Given the description of an element on the screen output the (x, y) to click on. 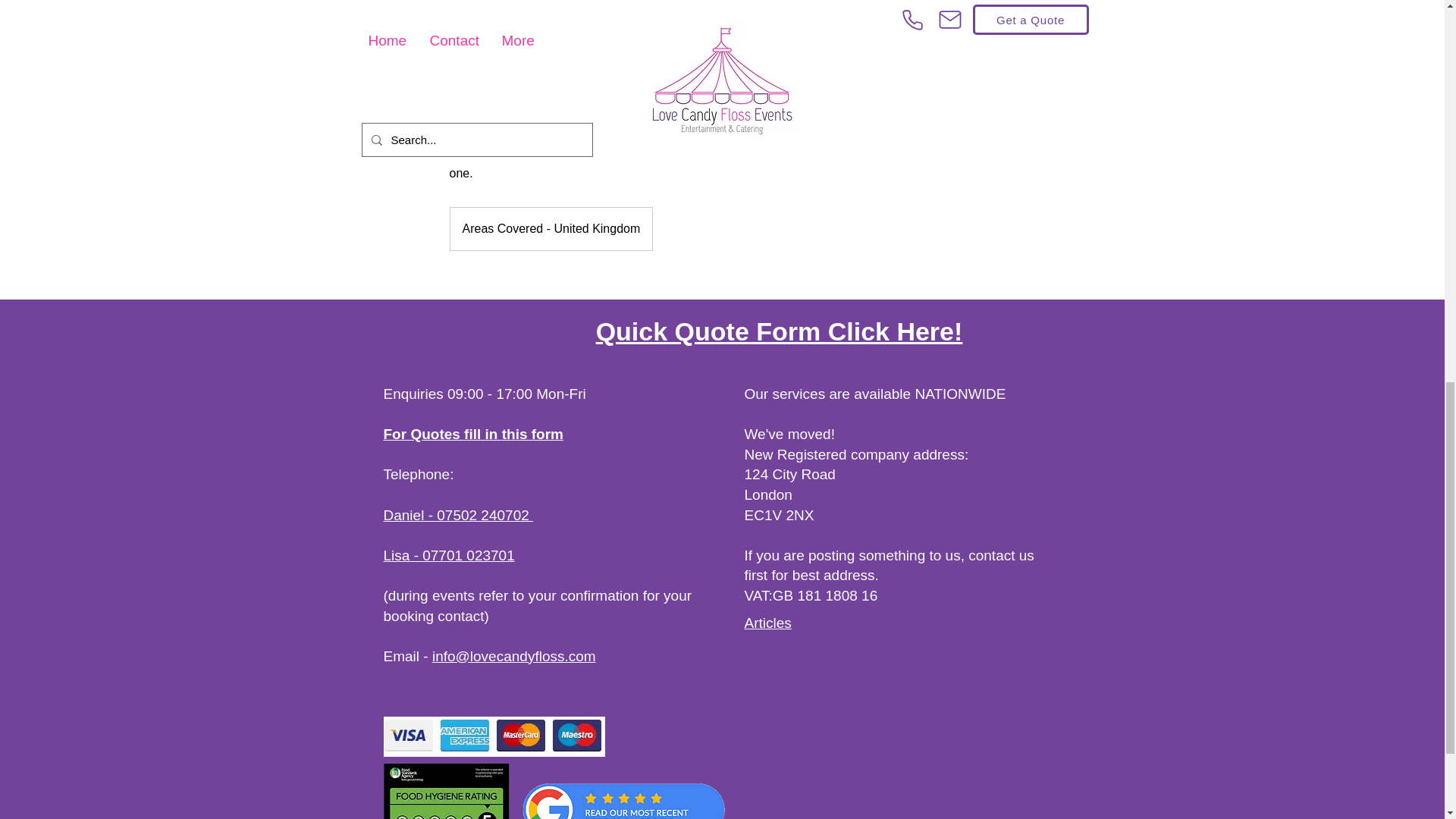
Lisa - 07701 023701 (449, 555)
Articles (768, 622)
Quick Quote Form Click Here! (778, 330)
For Quotes fill in this form (474, 433)
Daniel - 07502 240702  (459, 514)
